Given the description of an element on the screen output the (x, y) to click on. 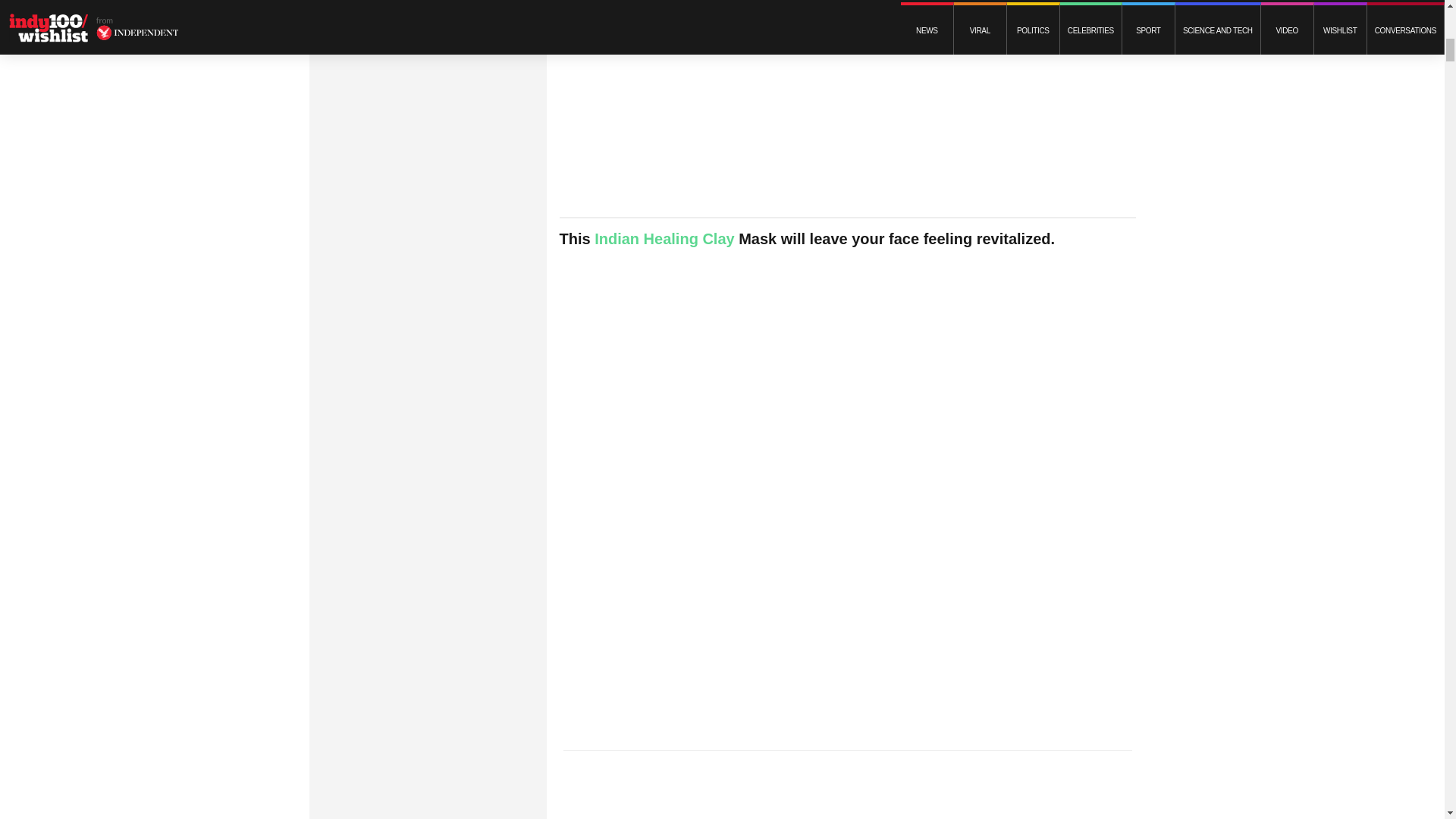
Indian Healing Clay (663, 238)
